Given the description of an element on the screen output the (x, y) to click on. 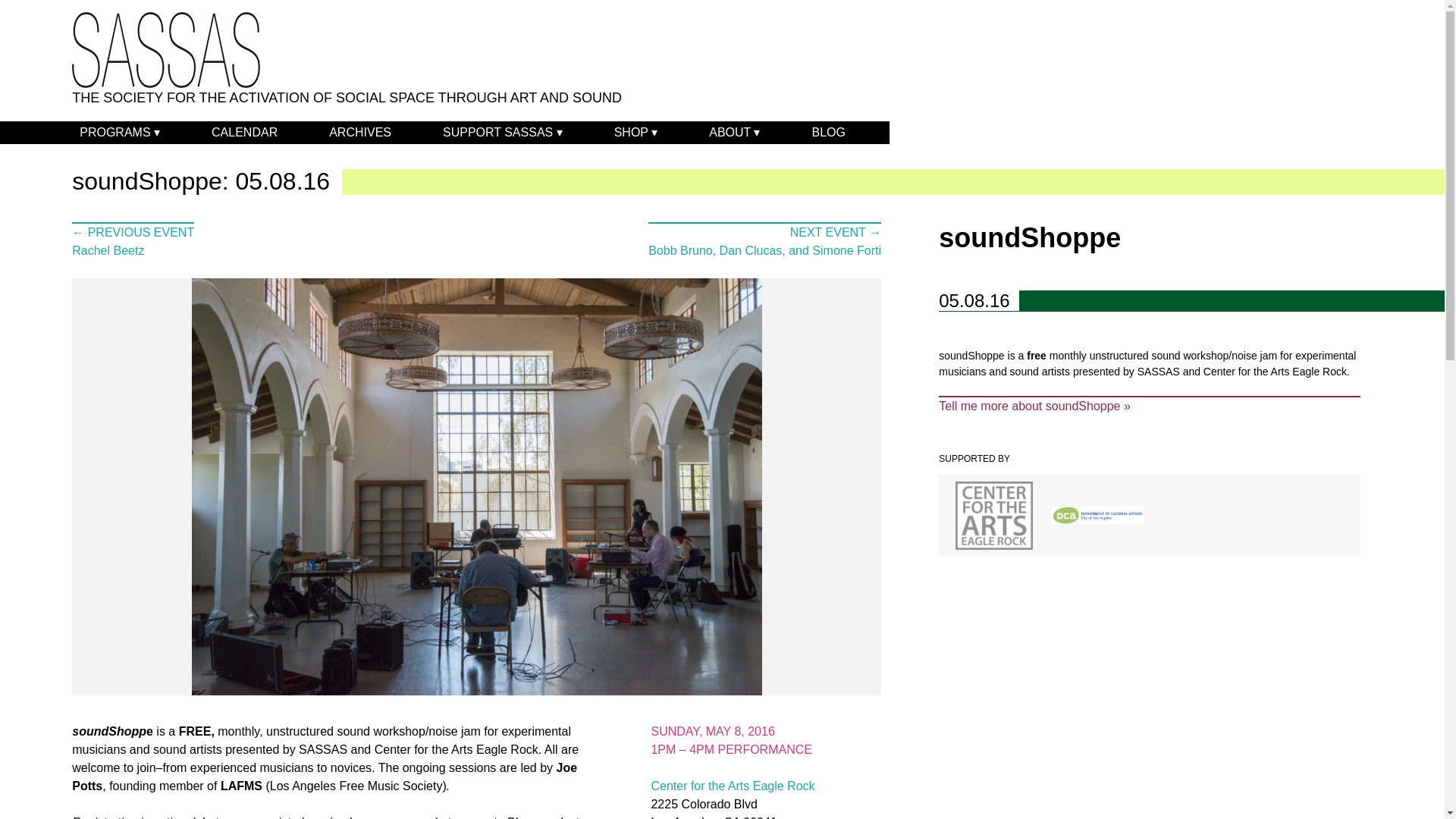
PROGRAMS (119, 132)
CALENDAR (244, 132)
CFAER Logo (993, 515)
SASSAS (165, 49)
DCA  (1097, 515)
Tell me more about soundShoppe (1149, 405)
SUPPORT SASSAS (502, 132)
Skip to content (7, 122)
Center for the Arts Eagle Rock Website (731, 785)
SHOP (636, 132)
Center for the Arts Eagle Rock (731, 785)
BLOG (827, 132)
ARCHIVES (359, 132)
ABOUT (734, 132)
